Given the description of an element on the screen output the (x, y) to click on. 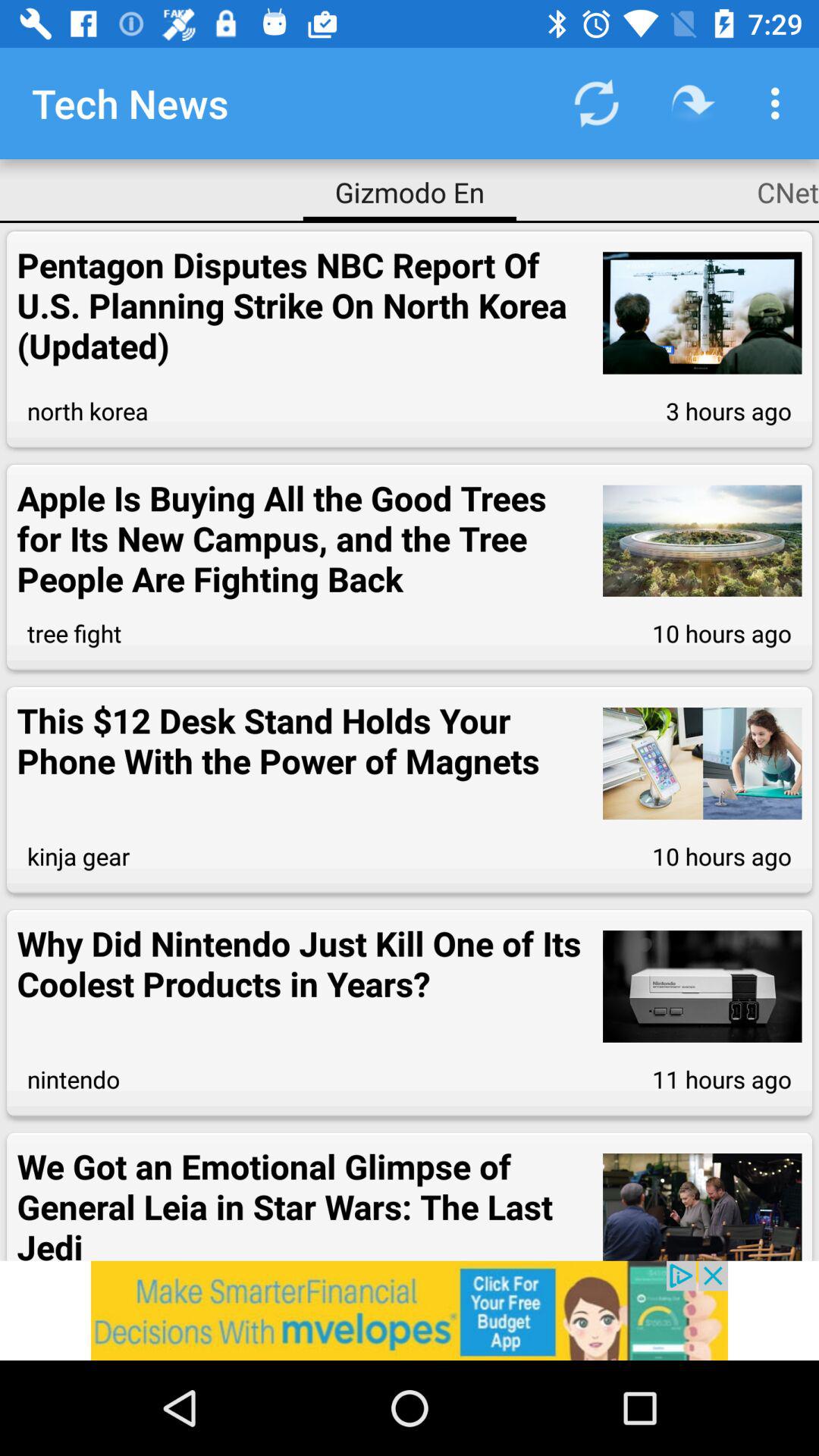
click the advertisement at bottom (409, 1310)
